Given the description of an element on the screen output the (x, y) to click on. 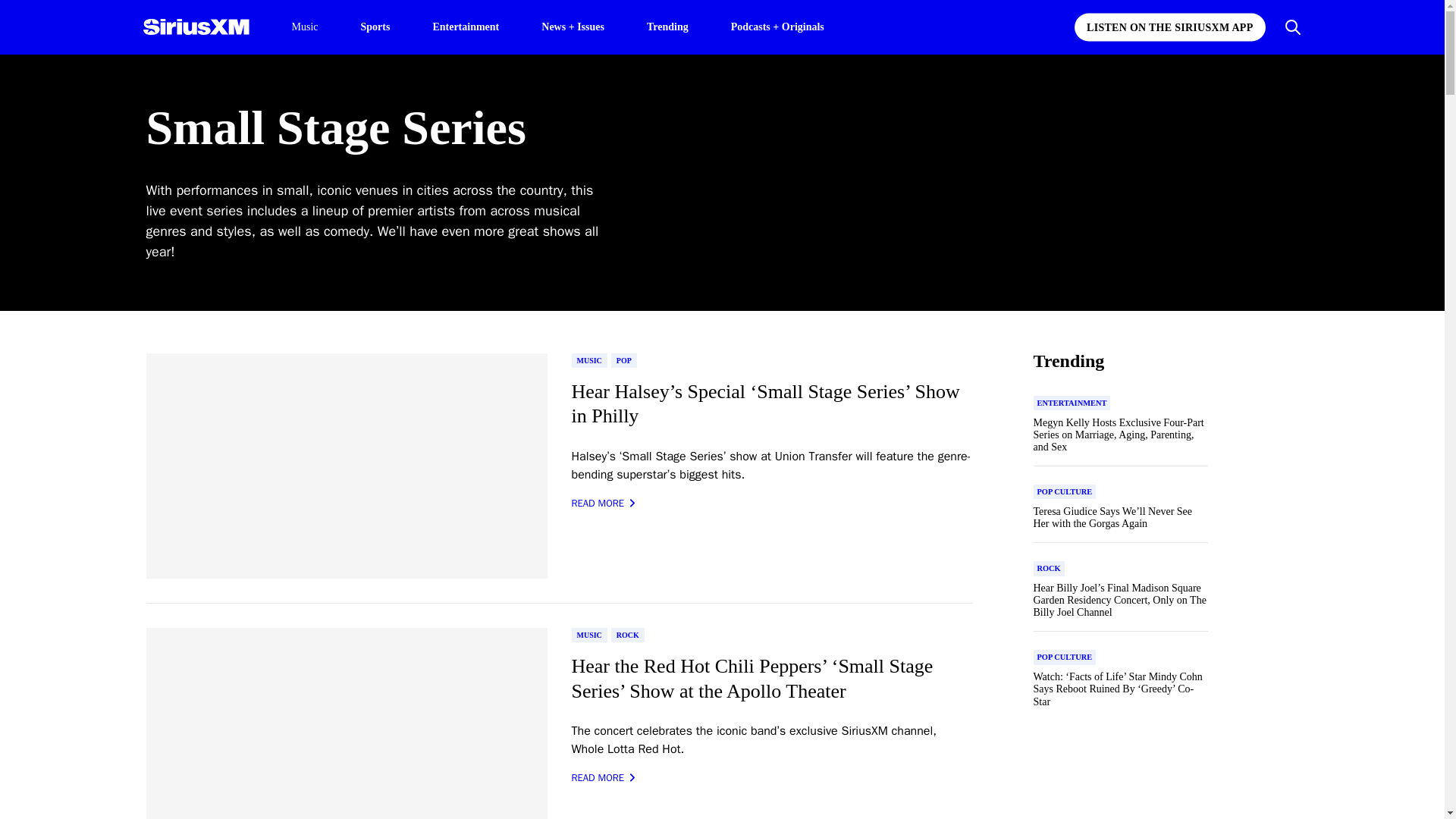
LISTEN ON THE SIRIUSXM APP (1169, 27)
READ MORE (603, 777)
Trending (667, 26)
POP (624, 359)
Sports (375, 26)
MUSIC (589, 359)
MUSIC (589, 635)
Music (304, 26)
Entertainment (465, 26)
ROCK (628, 635)
READ MORE (603, 503)
